Given the description of an element on the screen output the (x, y) to click on. 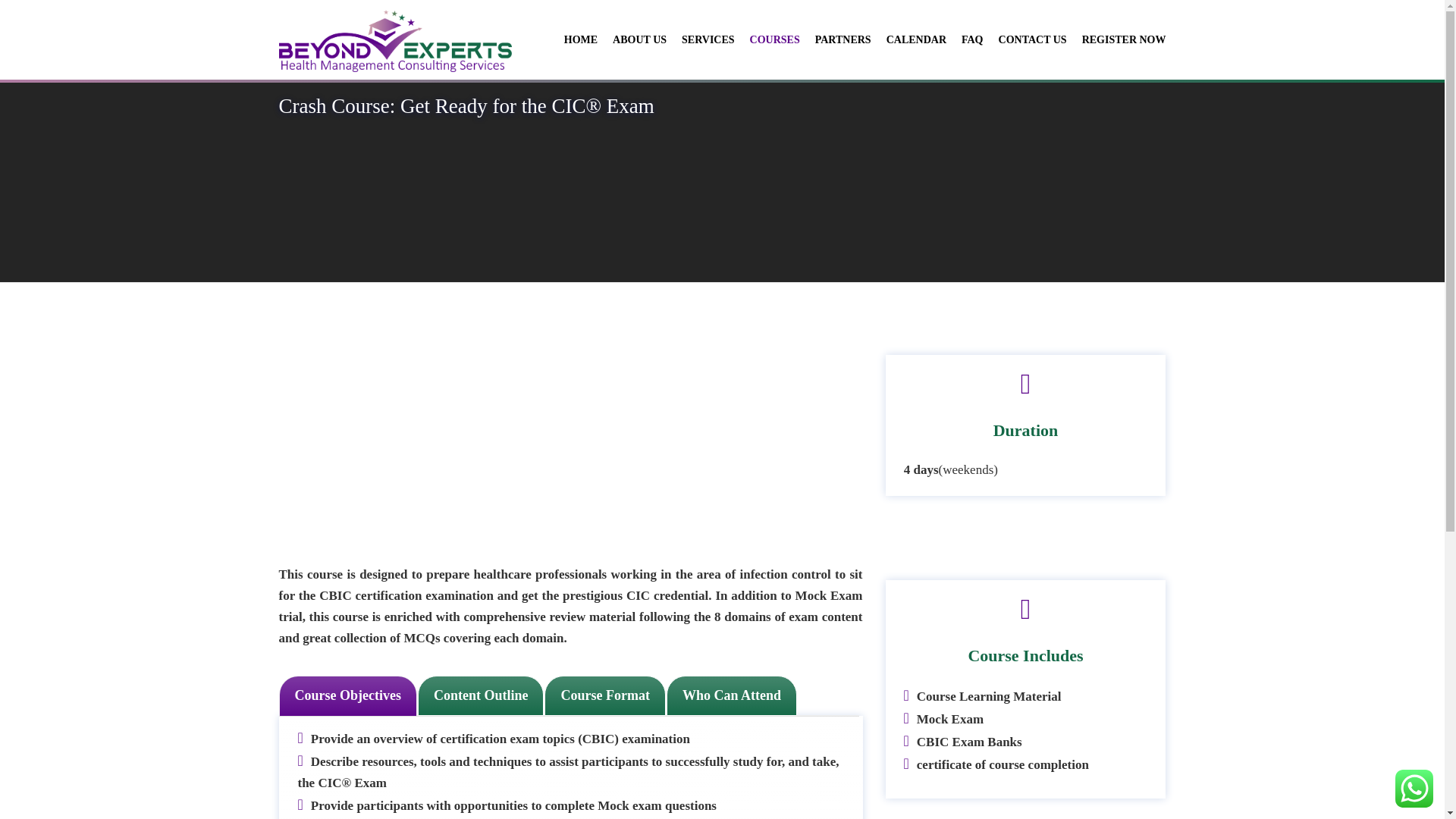
CALENDAR (908, 39)
REGISTER NOW (1116, 39)
CONTACT US (1025, 39)
PARTNERS (834, 39)
Beyond Experts - Health Management Consultancy (394, 39)
